Given the description of an element on the screen output the (x, y) to click on. 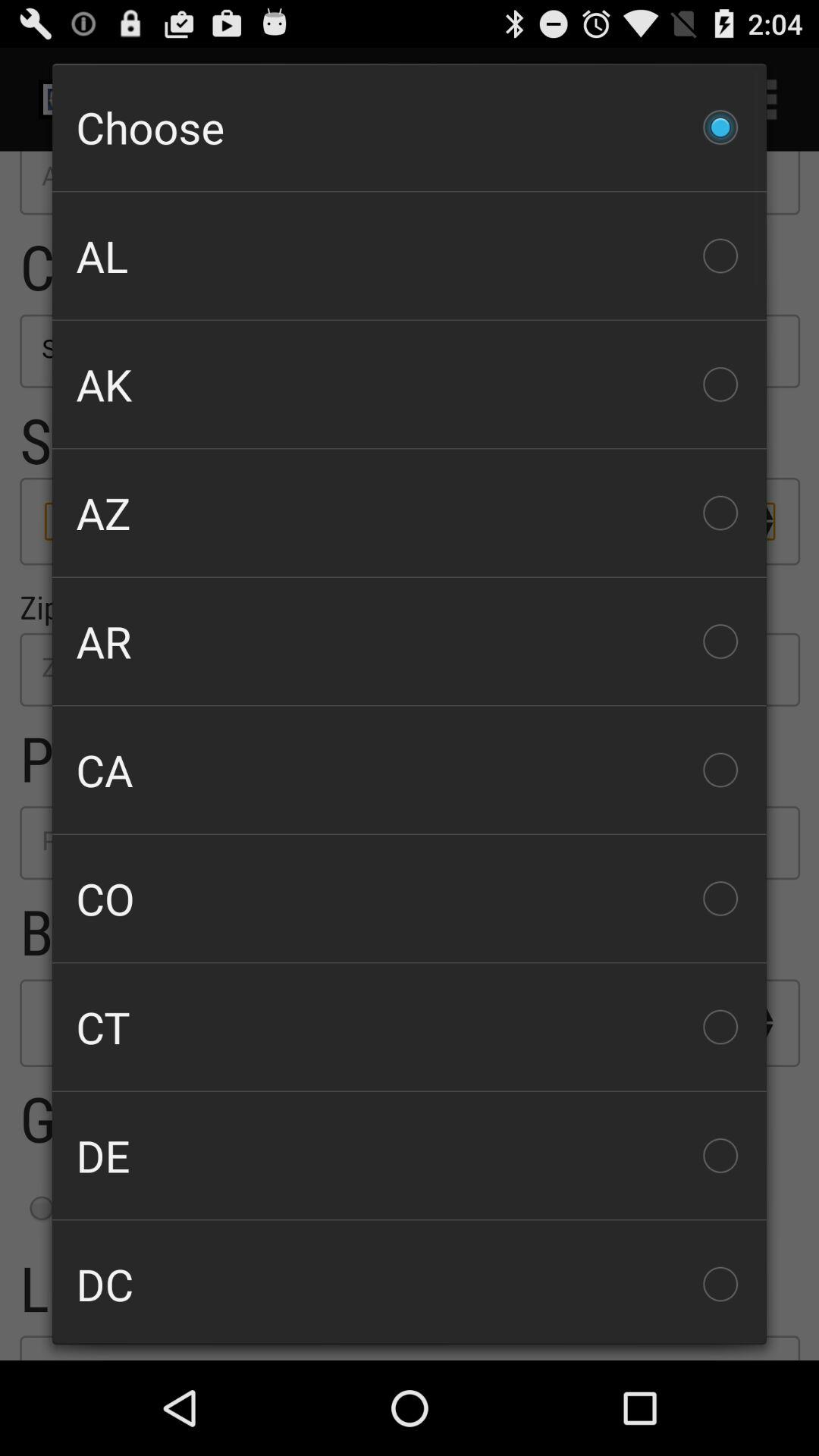
tap checkbox above de item (409, 1026)
